Given the description of an element on the screen output the (x, y) to click on. 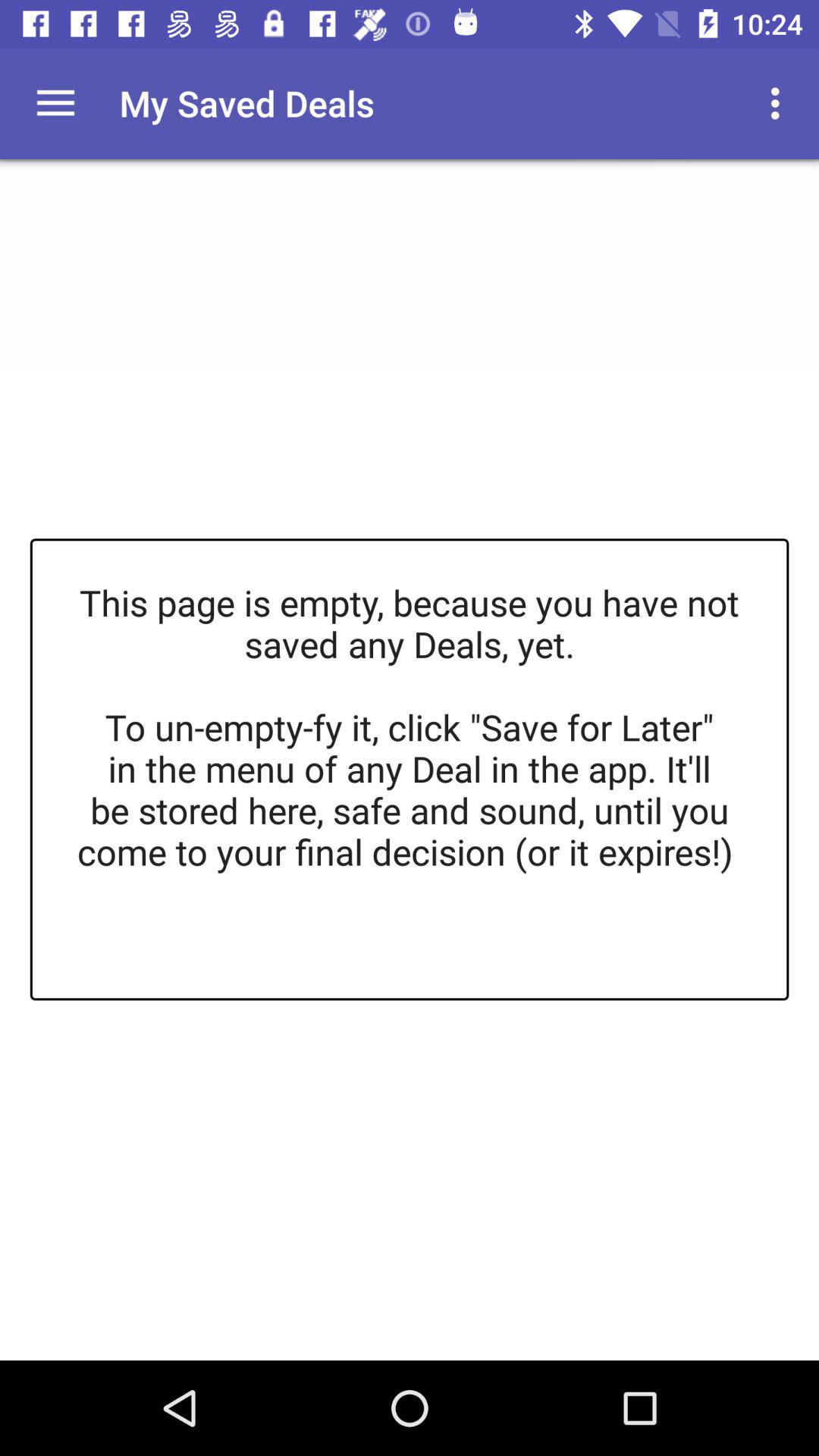
tap item next to my saved deals item (779, 103)
